Given the description of an element on the screen output the (x, y) to click on. 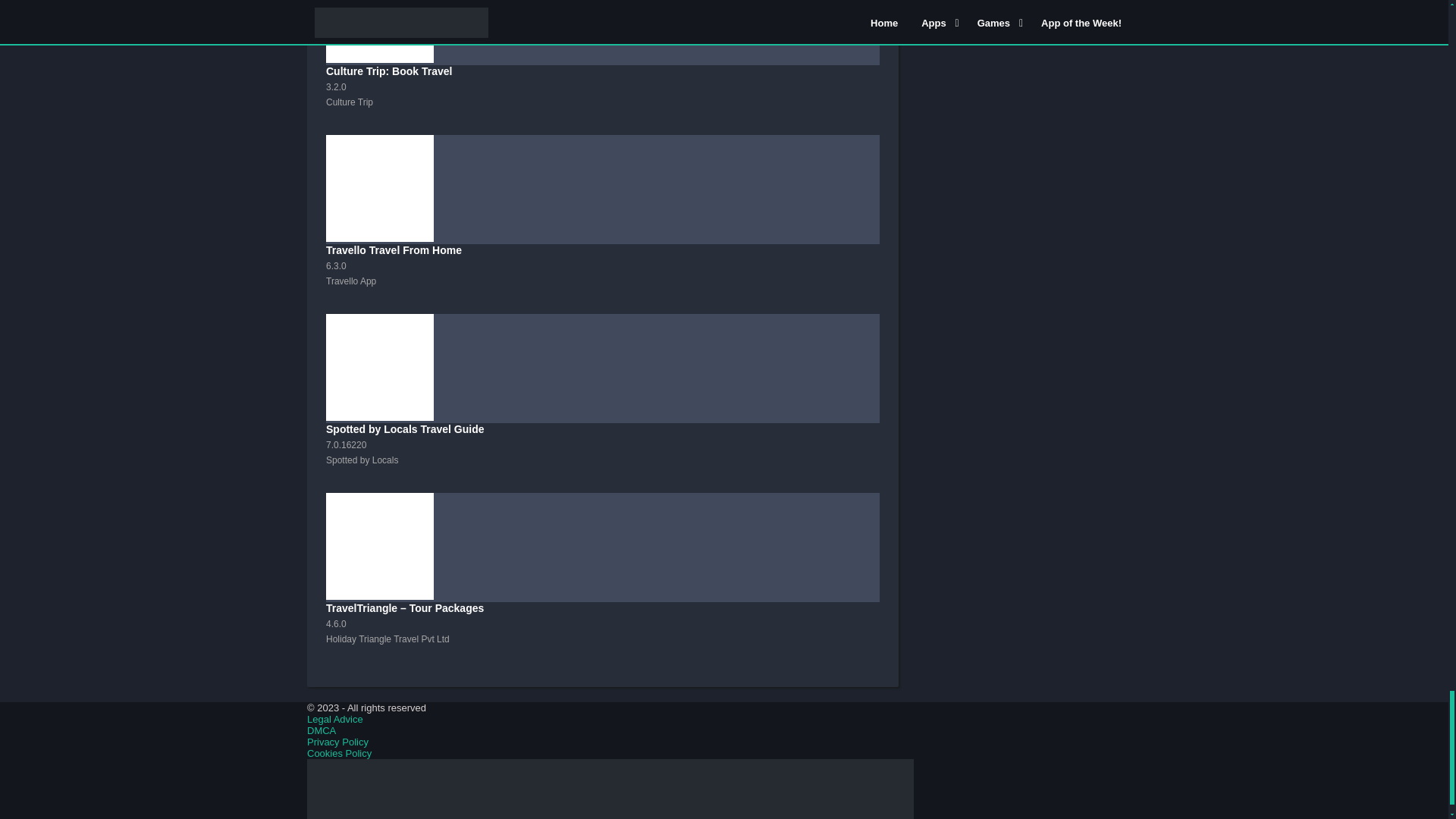
Culture Trip: Book Travel (602, 67)
Travello Travel From Home (602, 224)
Spotted by Locals Travel Guide (602, 403)
